Given the description of an element on the screen output the (x, y) to click on. 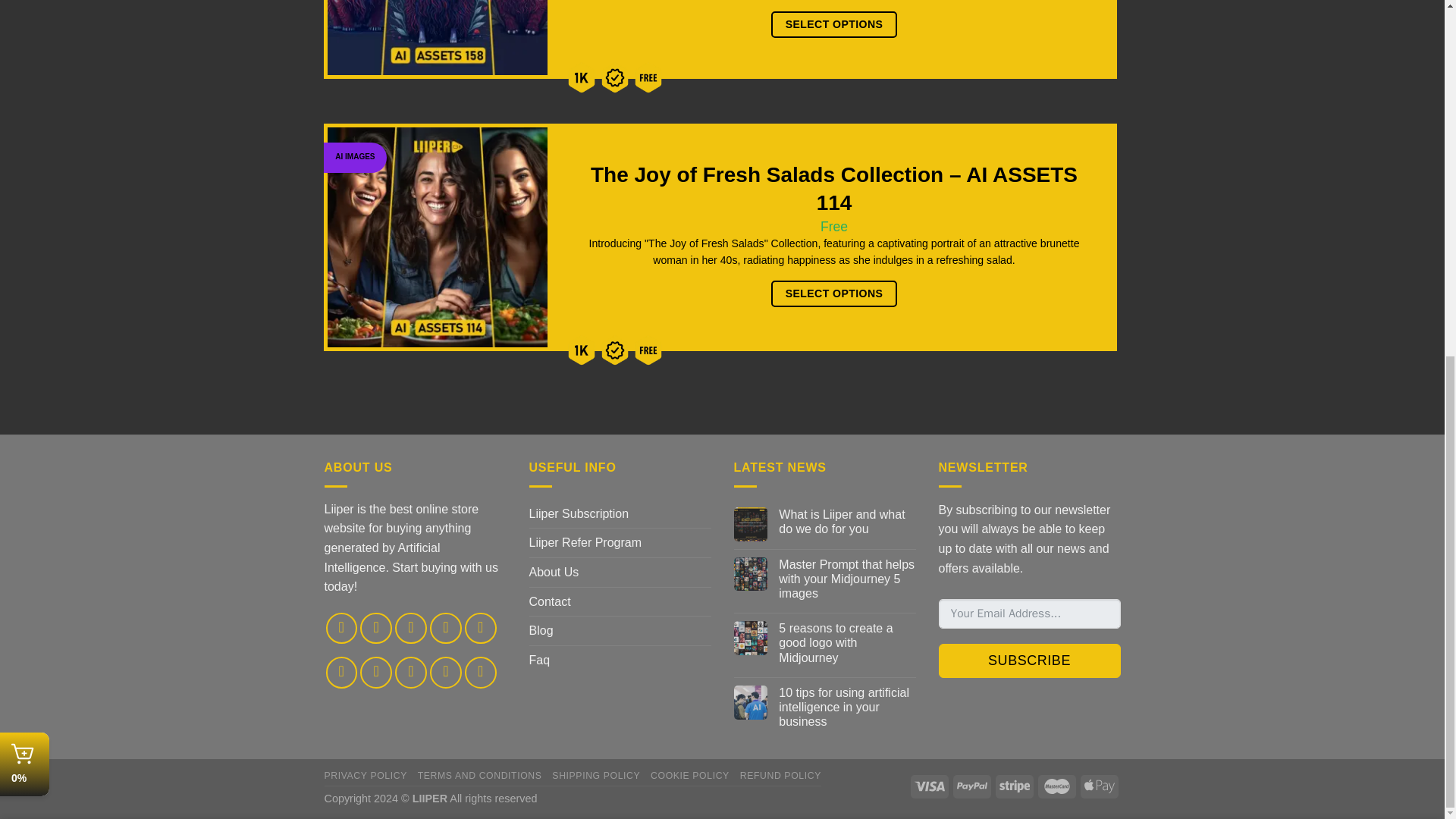
Follow on Facebook (342, 628)
USER VERIFIED (614, 77)
Follow on Instagram (375, 628)
USER VERIFIED (614, 350)
1K (581, 350)
1K (581, 77)
FREE AI ASSET (648, 77)
FREE AI ASSET (648, 350)
